Given the description of an element on the screen output the (x, y) to click on. 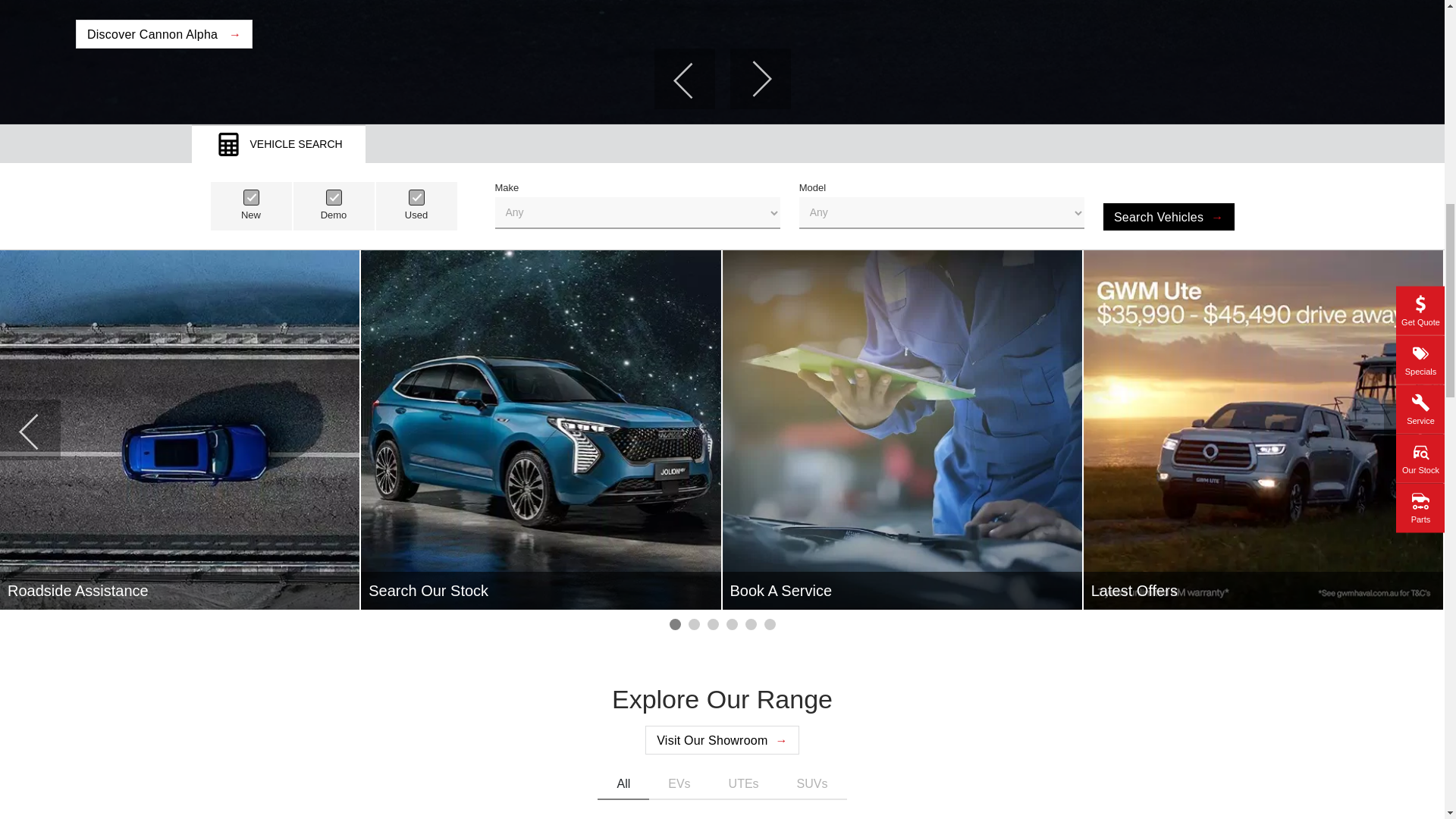
New (251, 197)
Demo (334, 197)
Used (415, 197)
